Given the description of an element on the screen output the (x, y) to click on. 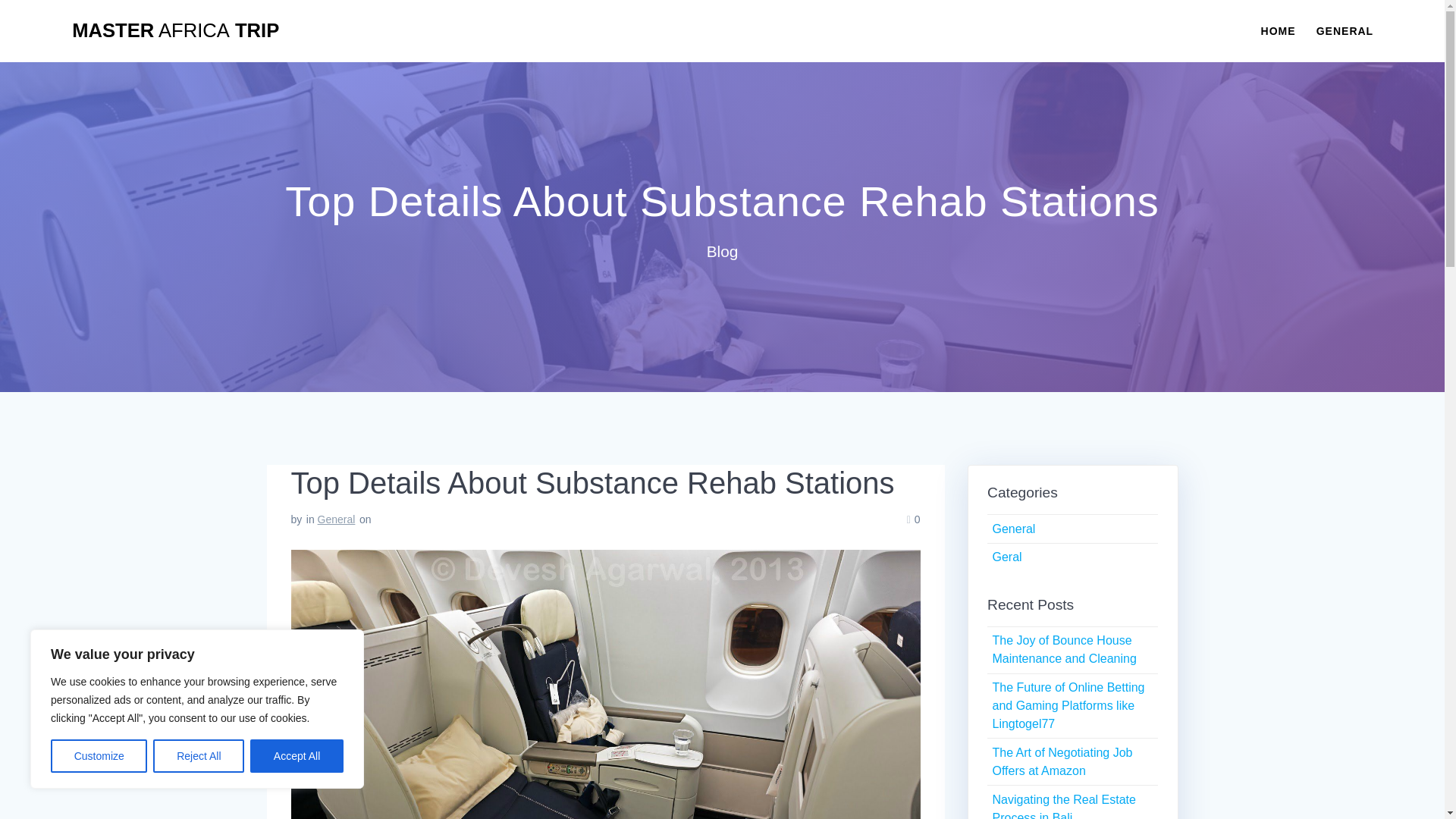
The Art of Negotiating Job Offers at Amazon (1061, 761)
General (336, 519)
Reject All (198, 756)
General (1013, 528)
Geral (1006, 556)
HOME (1277, 30)
Accept All (296, 756)
Navigating the Real Estate Process in Bali (1063, 806)
The Joy of Bounce House Maintenance and Cleaning (1063, 649)
